Given the description of an element on the screen output the (x, y) to click on. 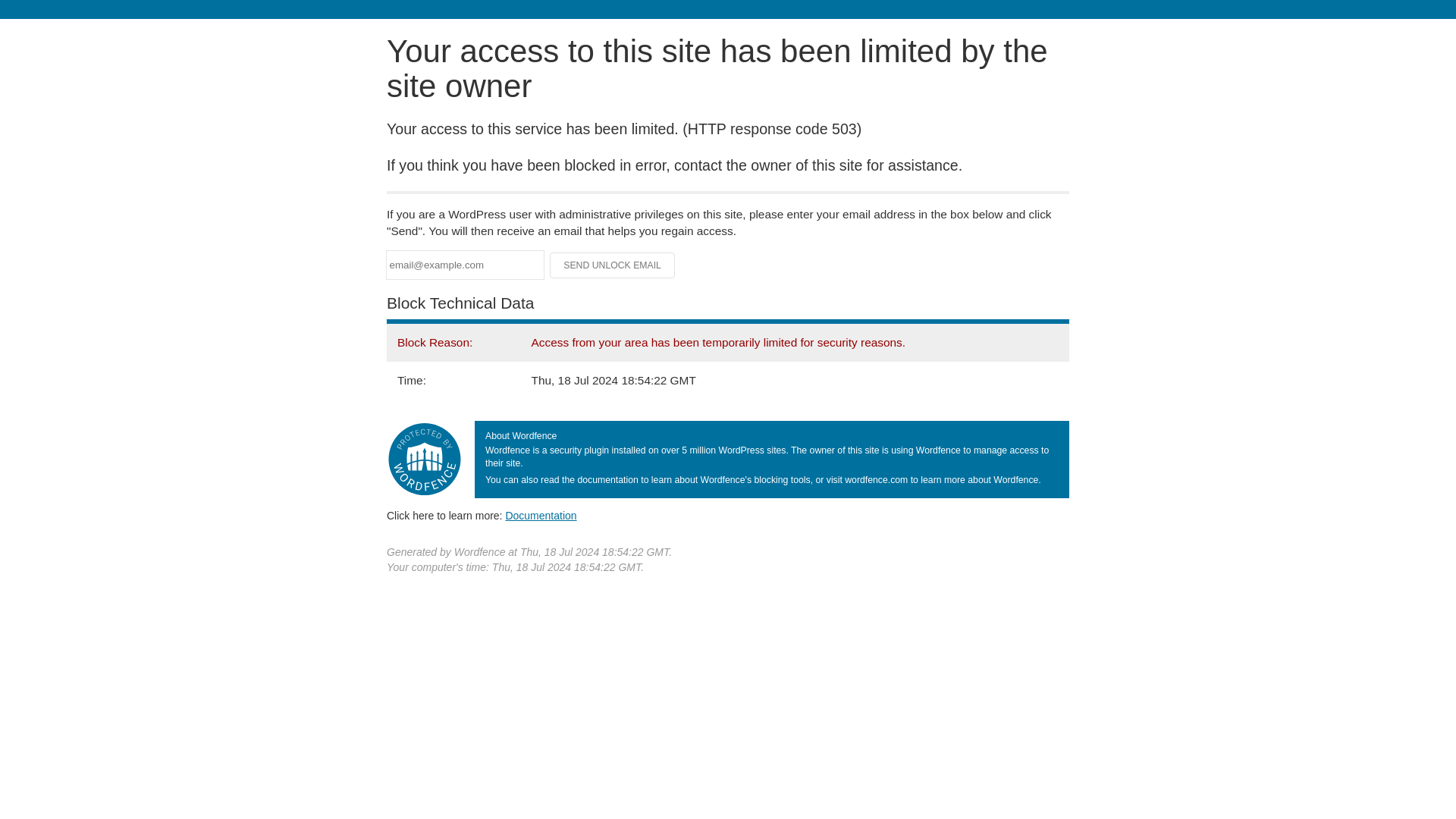
Send Unlock Email (612, 265)
Send Unlock Email (612, 265)
Documentation (540, 515)
